Given the description of an element on the screen output the (x, y) to click on. 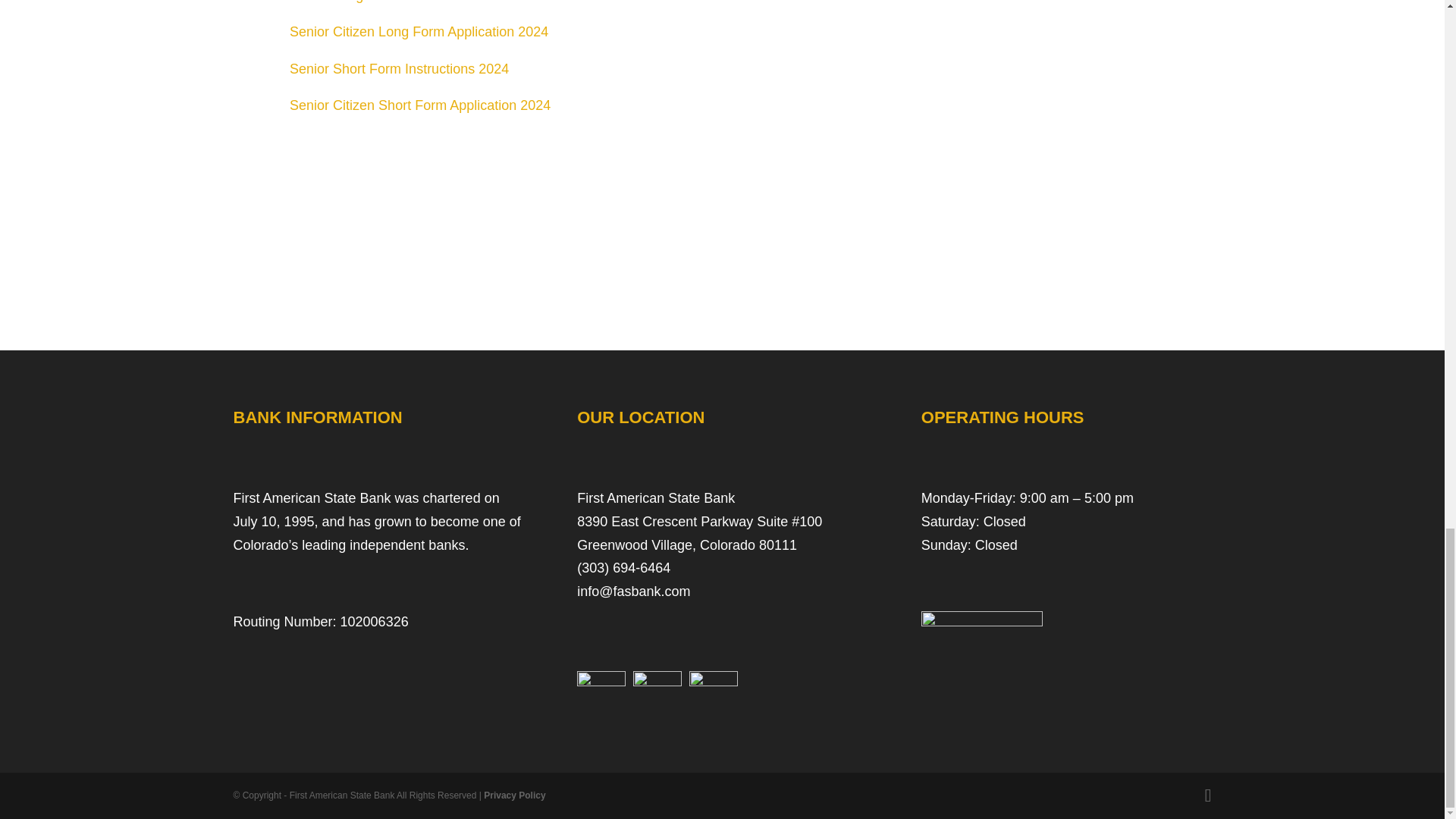
Senior Long Form Application 2024  (418, 31)
Senior Long Form Instructions 2024 (397, 1)
Senior Citizen Long Form Application 2024 (418, 31)
Senior Citizen Short Form Application 2024 (419, 105)
Senior Short Form Instructions 2024 (398, 68)
Senior Citizen Short Form Application 2024 (419, 105)
Senior Short Form Instructions 2024 (398, 68)
Privacy Policy (513, 795)
